Given the description of an element on the screen output the (x, y) to click on. 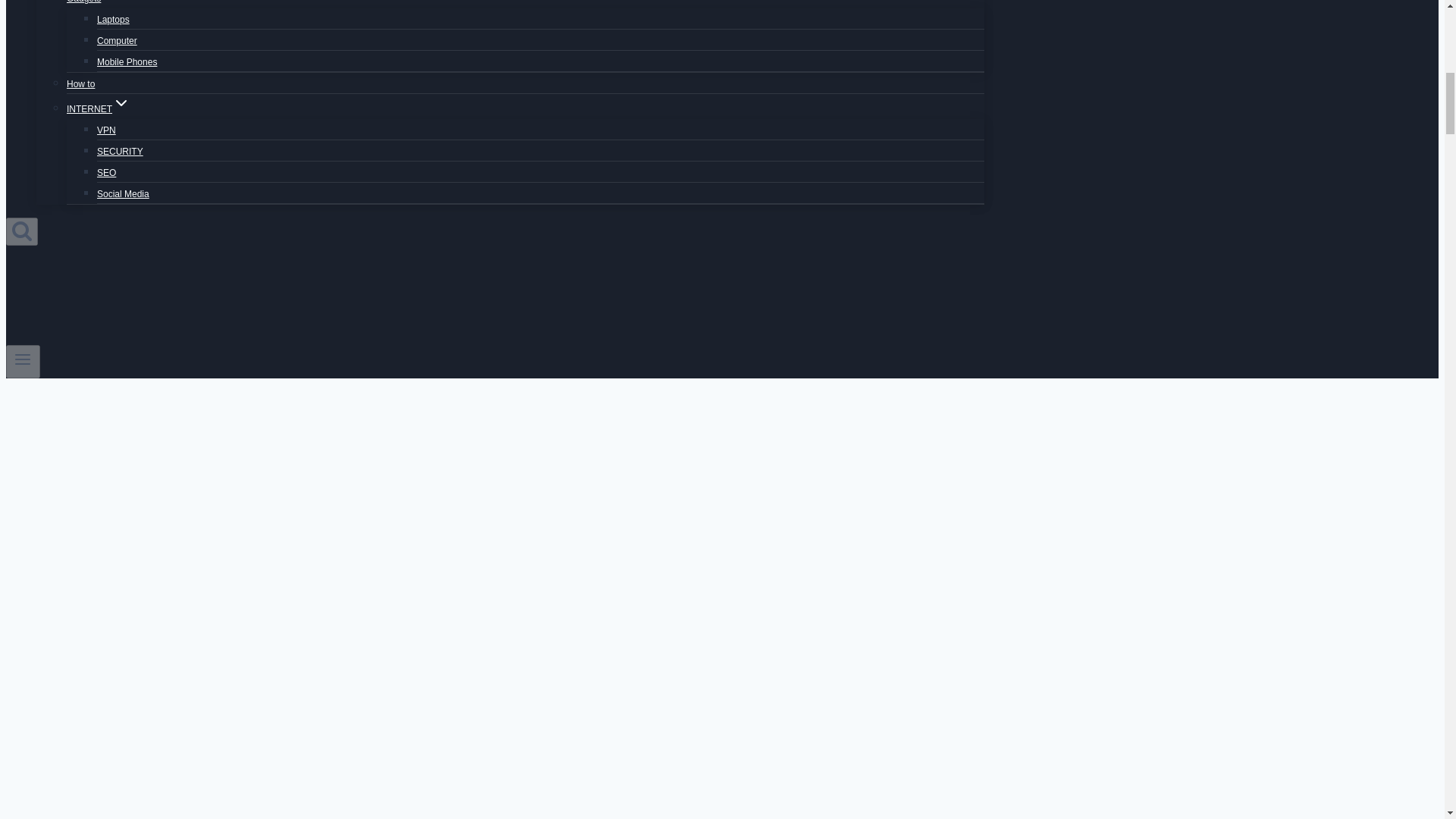
Laptops (113, 19)
Search (21, 230)
Expand (121, 103)
INTERNETExpand (98, 109)
Computer (116, 40)
Mobile Phones (127, 61)
Toggle Menu (22, 359)
GadgetsExpand (92, 6)
How to (80, 83)
